Given the description of an element on the screen output the (x, y) to click on. 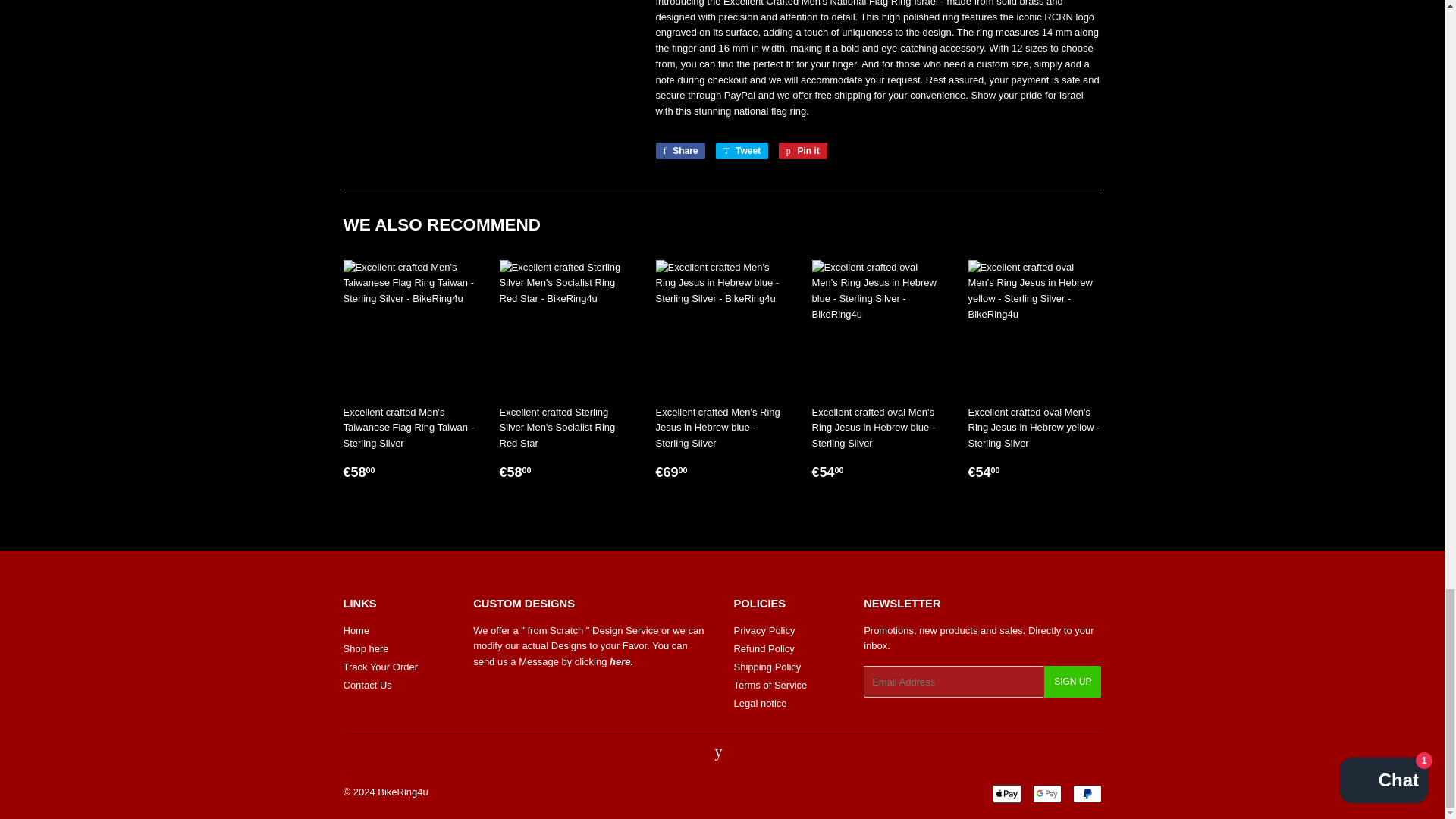
Pin on Pinterest (802, 150)
Apple Pay (1005, 793)
Google Pay (1046, 793)
Share on Facebook (679, 150)
Contact Us (621, 661)
Tweet on Twitter (742, 150)
PayPal (1085, 793)
